Given the description of an element on the screen output the (x, y) to click on. 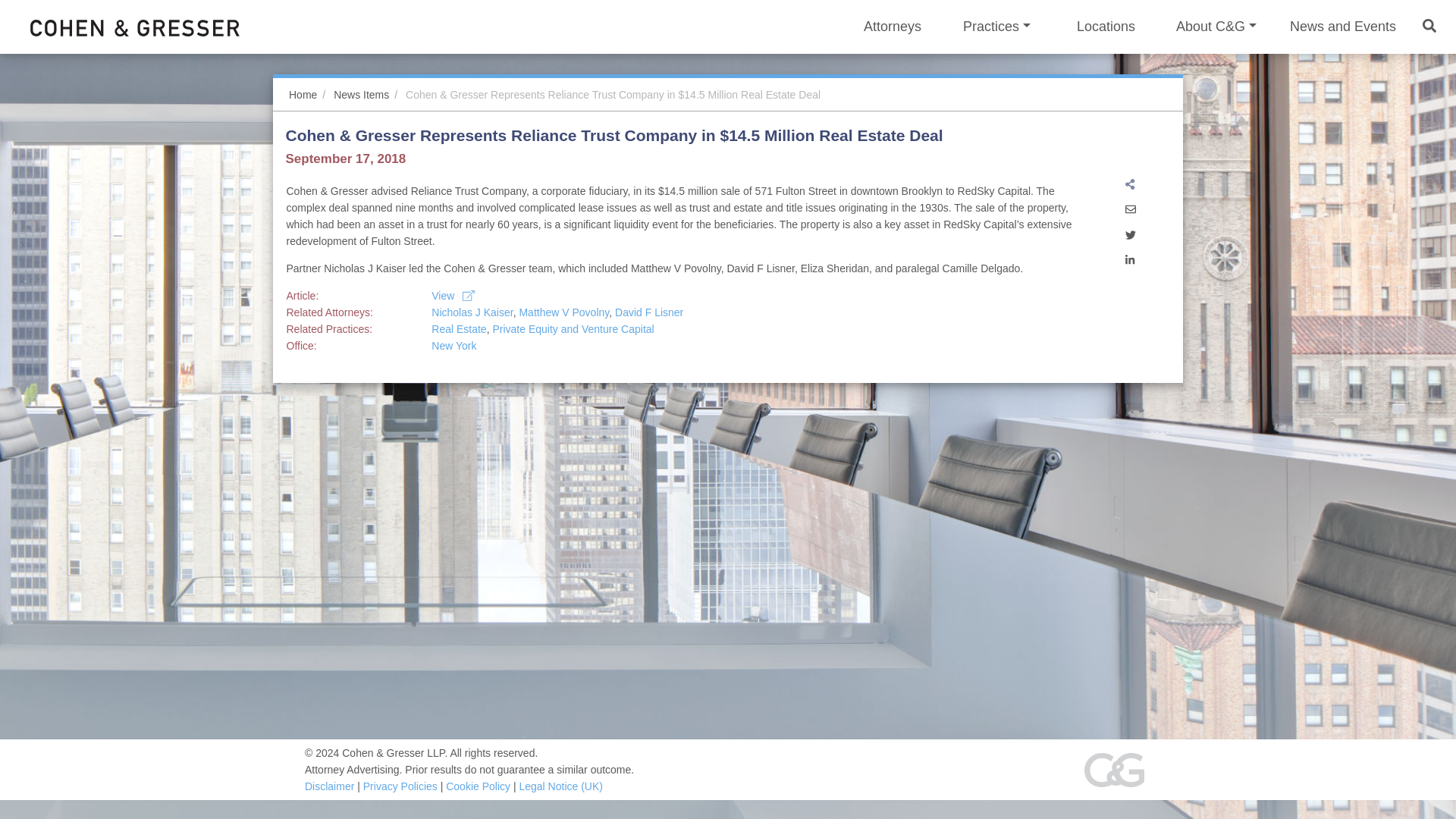
Attorneys (892, 27)
Attorneys (892, 27)
Practices (996, 27)
Practices (996, 27)
